Given the description of an element on the screen output the (x, y) to click on. 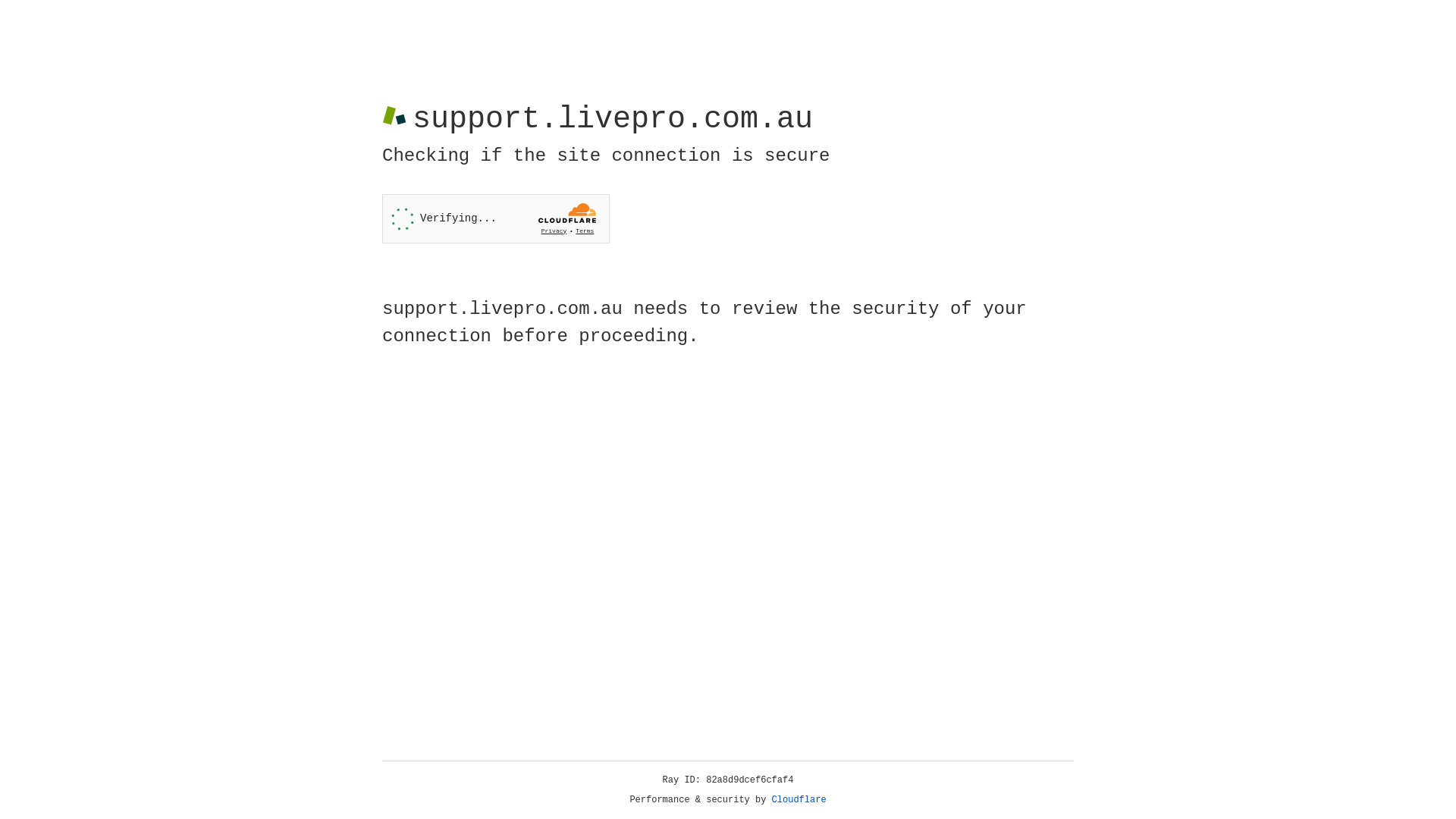
Widget containing a Cloudflare security challenge Element type: hover (495, 218)
Cloudflare Element type: text (798, 799)
